Given the description of an element on the screen output the (x, y) to click on. 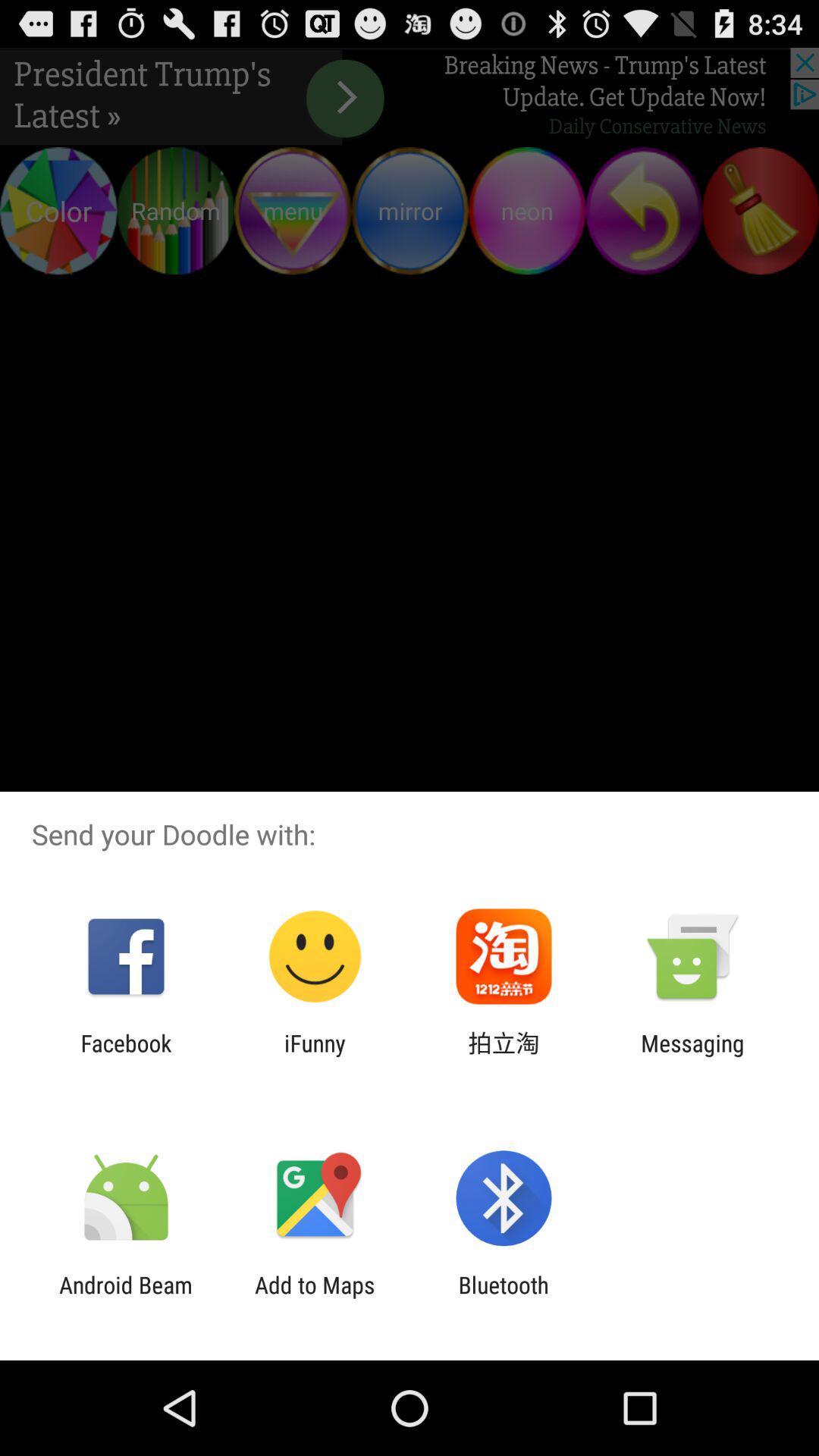
turn off facebook (125, 1056)
